Given the description of an element on the screen output the (x, y) to click on. 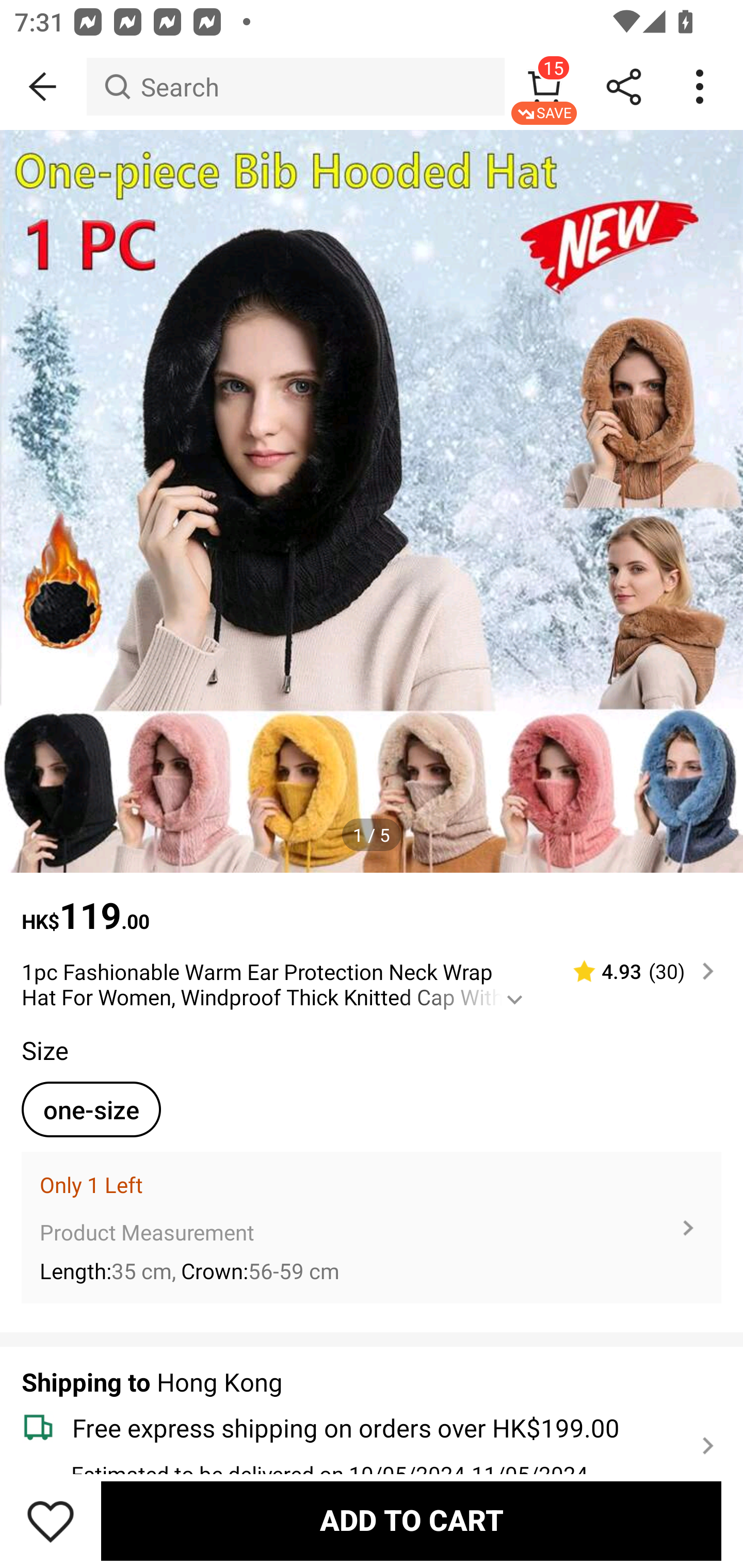
BACK (43, 86)
15 SAVE (543, 87)
Search (295, 87)
PHOTOS 1 / 5 (371, 501)
1 / 5 (371, 834)
HK$119.00 (371, 906)
4.93 (30) (635, 971)
Size (44, 1050)
one-size one-sizeselected option (91, 1108)
ADD TO CART (411, 1520)
Save (50, 1520)
